Given the description of an element on the screen output the (x, y) to click on. 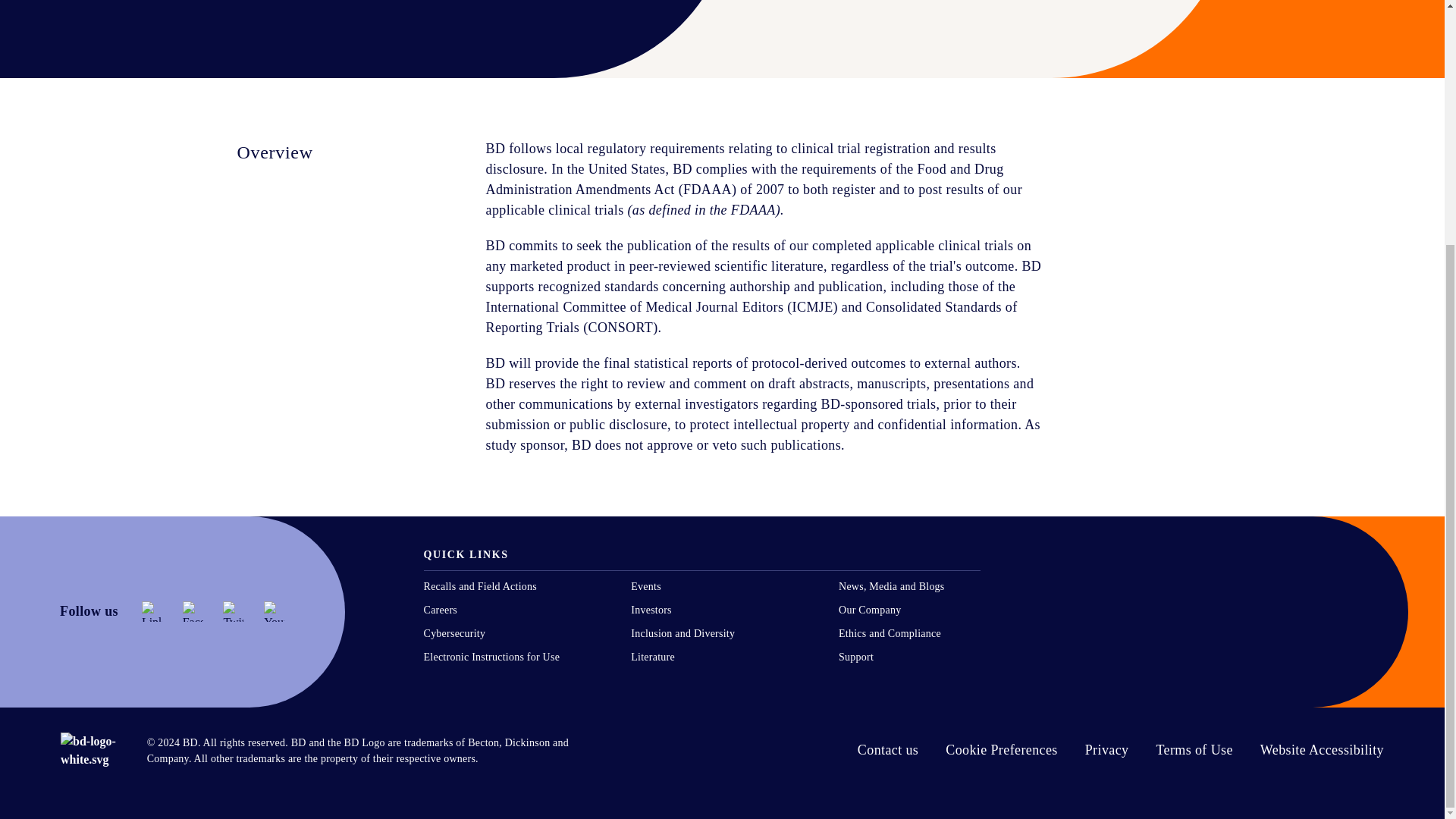
Youtube (273, 611)
Linked In (151, 611)
Facebook (193, 611)
bd-logo-white.svg (90, 750)
Twitter (232, 611)
